Given the description of an element on the screen output the (x, y) to click on. 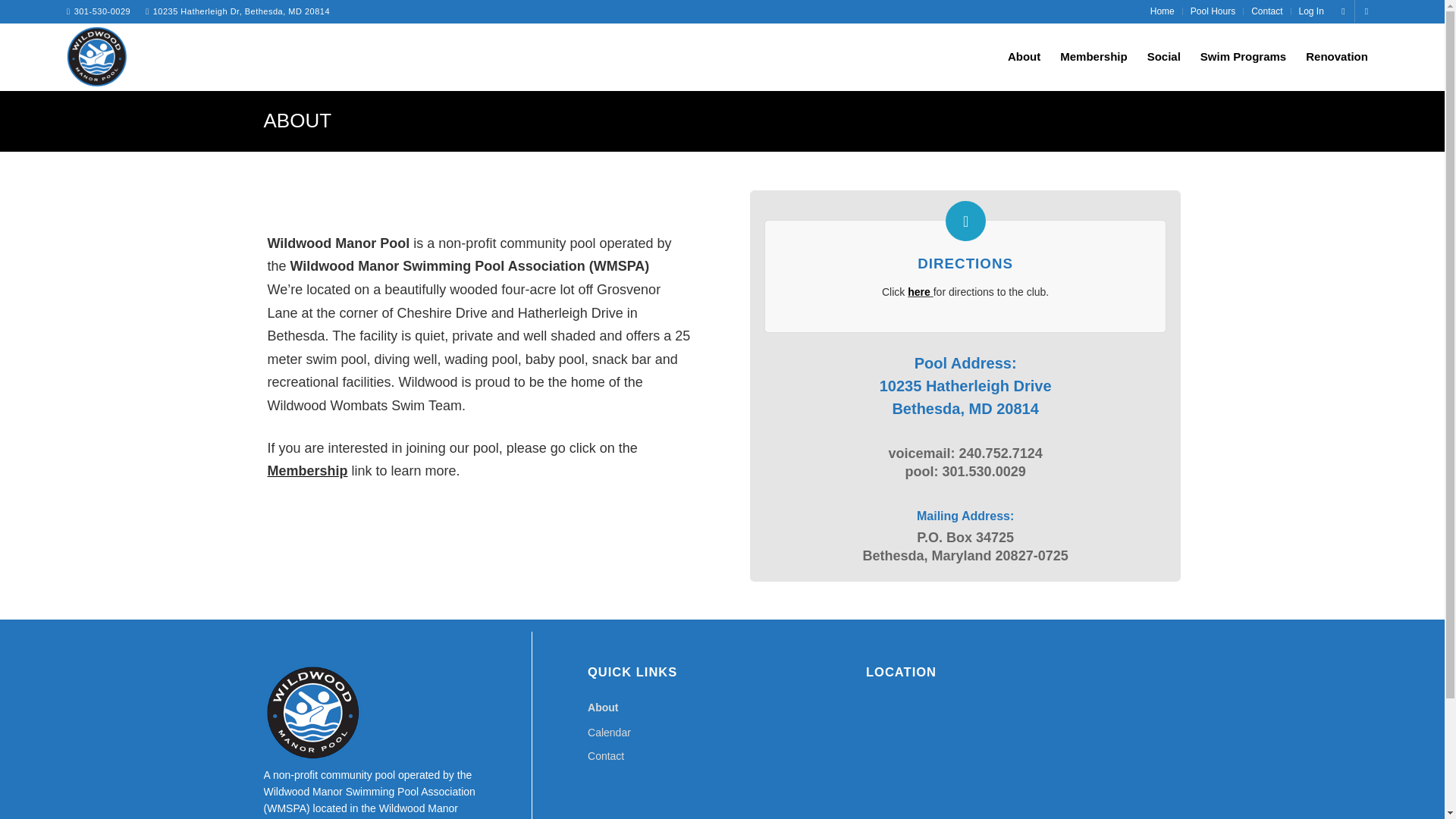
Facebook (1343, 11)
About (722, 707)
here (918, 291)
Instagram (1366, 11)
wildwood-manor (97, 56)
Contact (722, 756)
ABOUT (297, 119)
Home (1162, 11)
wildwood-manor (97, 59)
Membership (306, 470)
